Given the description of an element on the screen output the (x, y) to click on. 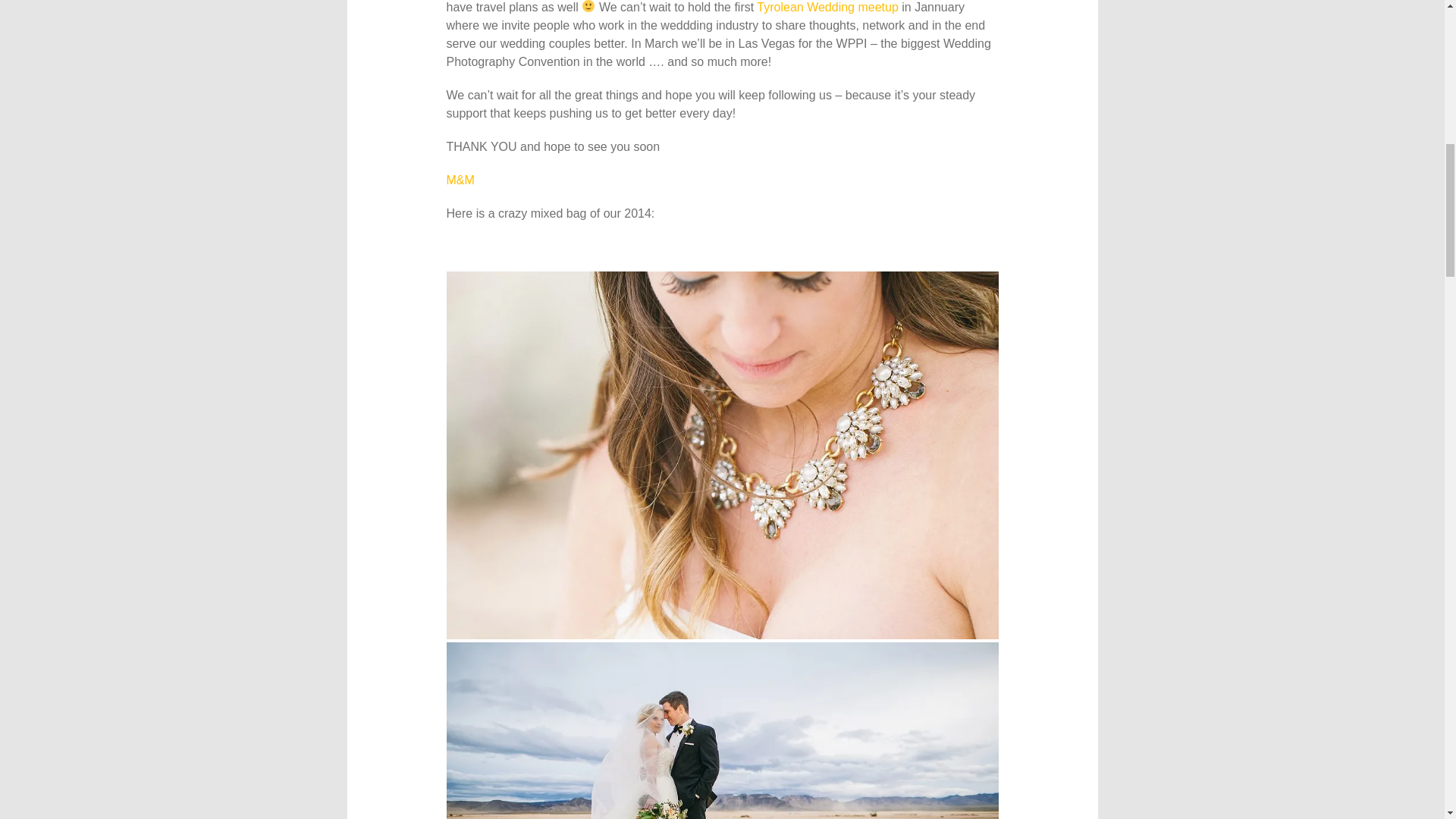
Tyrolean Wedding meetup (827, 6)
